Given the description of an element on the screen output the (x, y) to click on. 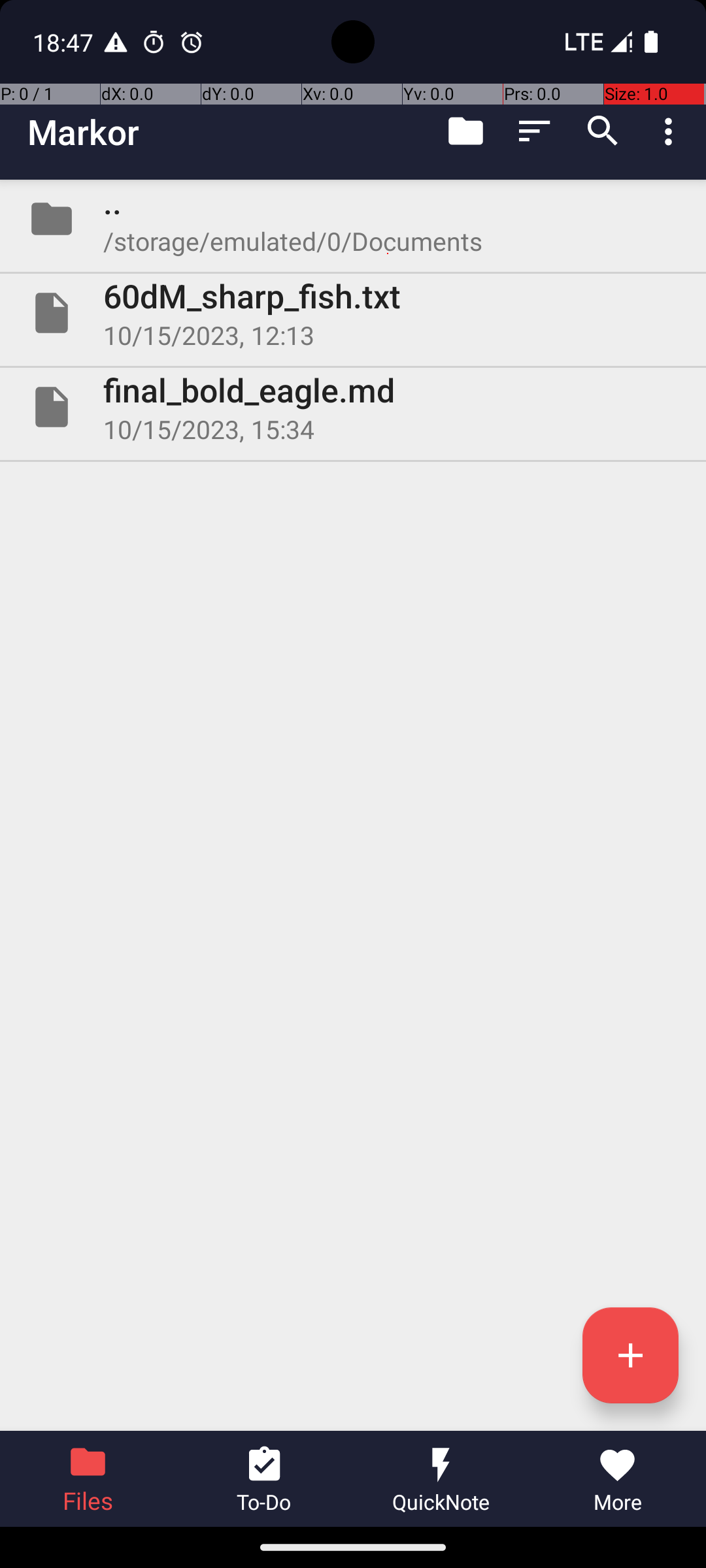
File 60dM_sharp_fish.txt  Element type: android.widget.LinearLayout (353, 312)
File final_bold_eagle.md  Element type: android.widget.LinearLayout (353, 406)
18:47 Element type: android.widget.TextView (64, 41)
Clock notification: Upcoming alarm Element type: android.widget.ImageView (191, 41)
